Given the description of an element on the screen output the (x, y) to click on. 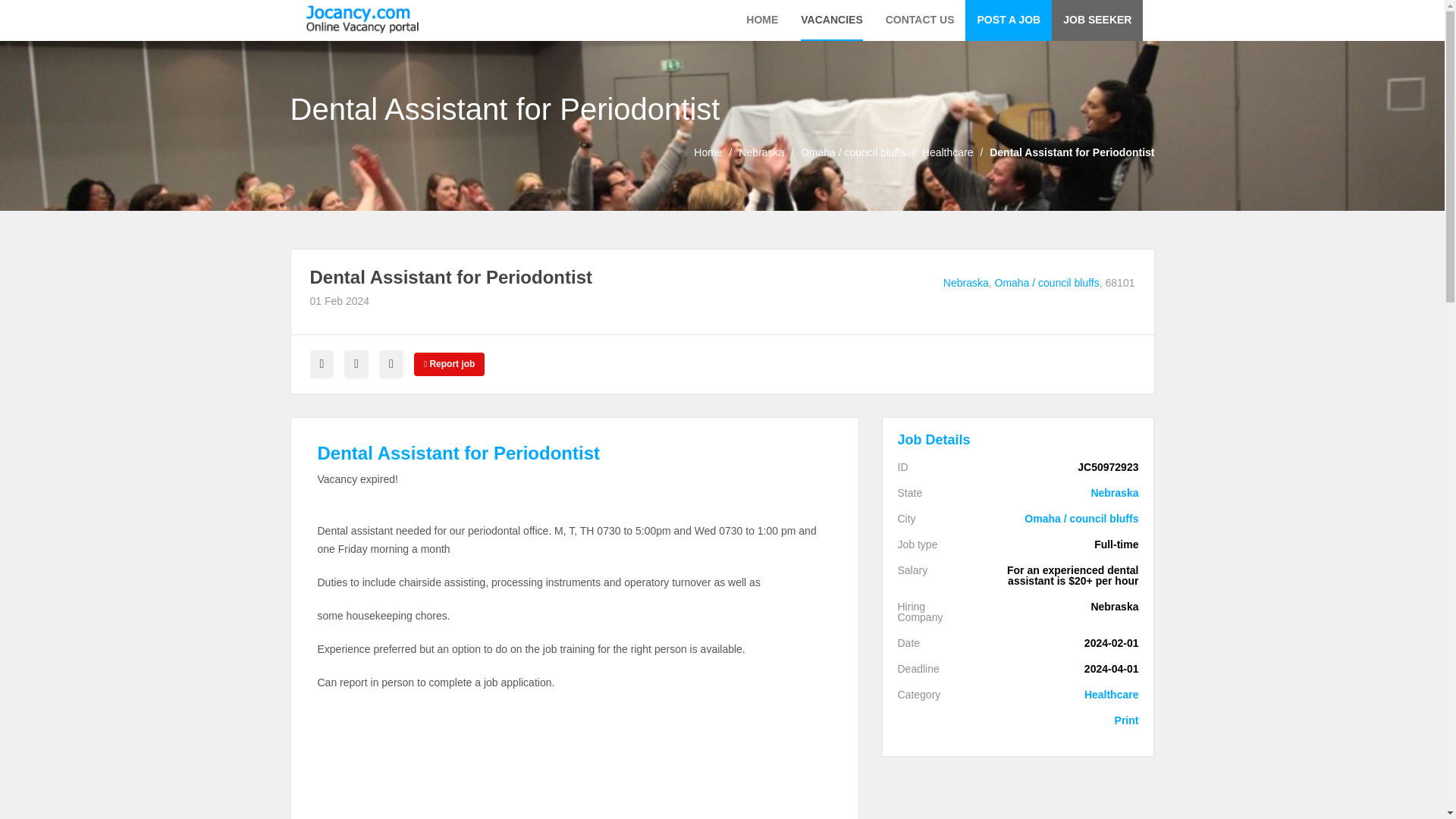
Job Seeker (1096, 20)
JOB SEEKER (1096, 20)
Nebraska State jobs (761, 152)
VACANCIES (830, 20)
Nebraska (1061, 492)
Nebraska (761, 152)
Post a Job (1008, 20)
Contact us (920, 20)
healthcare (947, 152)
POST A JOB (1008, 20)
